Given the description of an element on the screen output the (x, y) to click on. 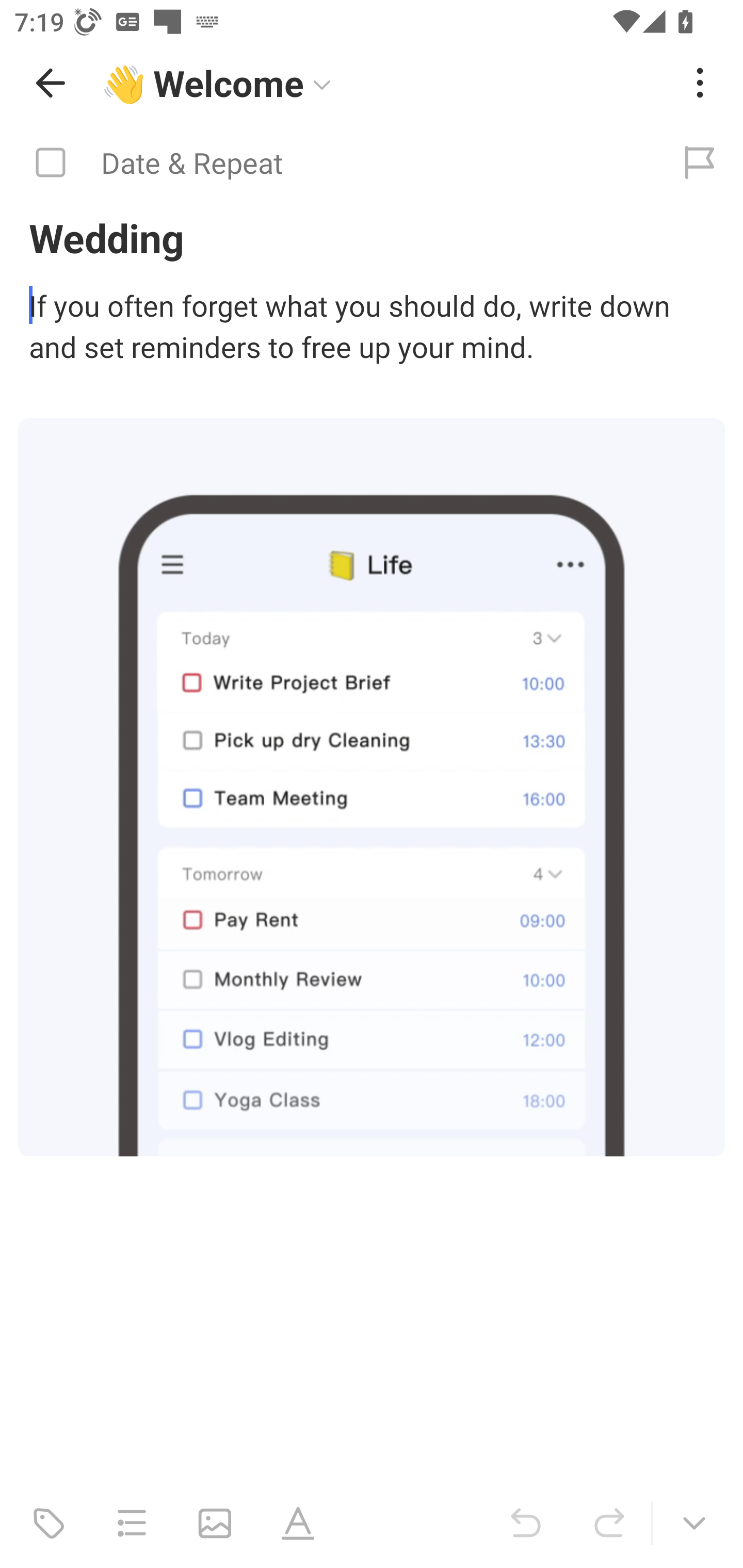
👋 Welcome (384, 82)
Date & Repeat (328, 163)
Wedding (371, 237)
